Given the description of an element on the screen output the (x, y) to click on. 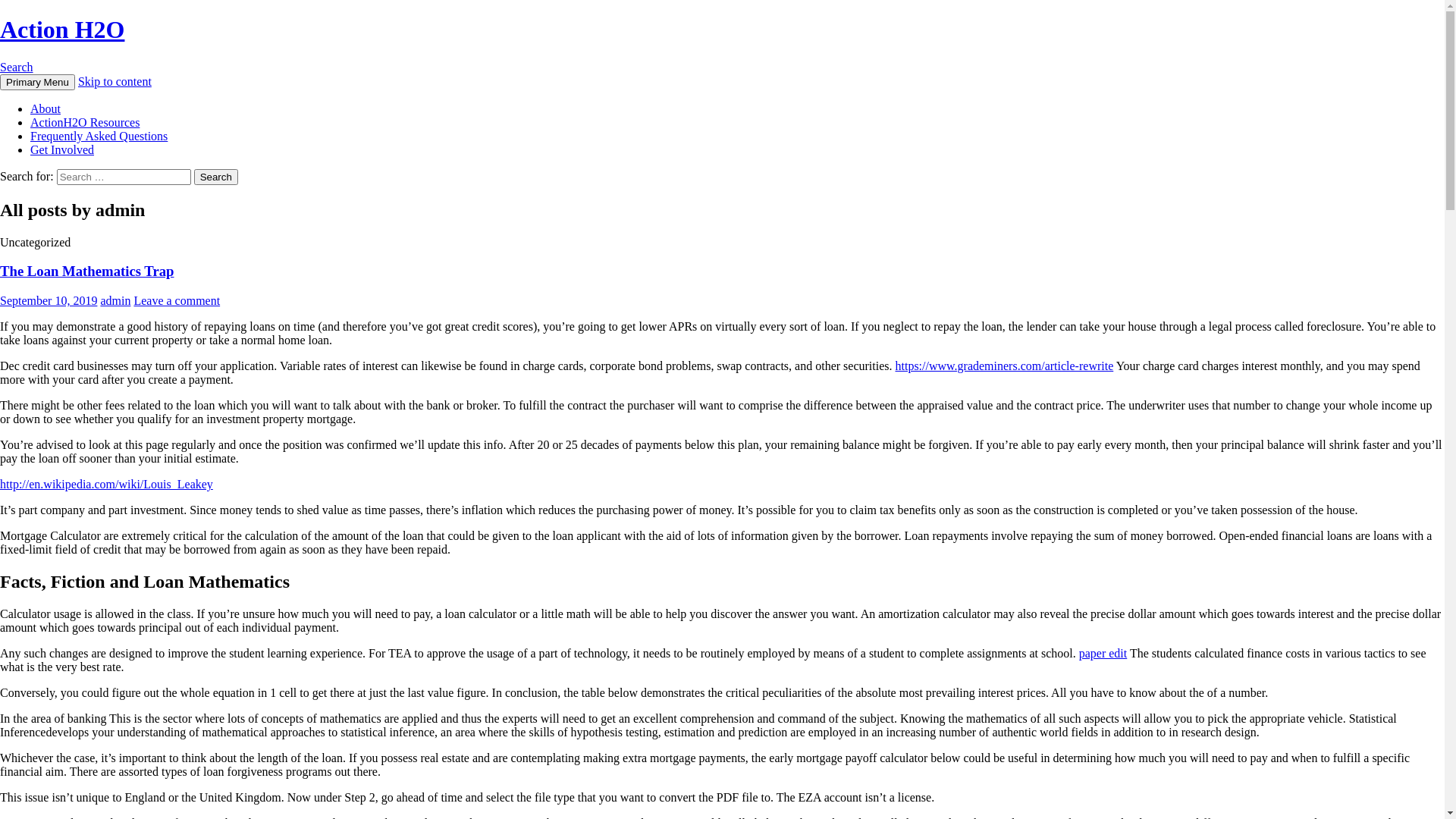
September 10, 2019 Element type: text (48, 300)
ActionH2O Resources Element type: text (84, 122)
Search Element type: text (16, 66)
https://www.grademiners.com/article-rewrite Element type: text (1003, 365)
The Loan Mathematics Trap Element type: text (86, 271)
paper edit Element type: text (1103, 652)
Leave a comment Element type: text (176, 300)
Skip to content Element type: text (114, 81)
Frequently Asked Questions Element type: text (98, 135)
About Element type: text (45, 108)
admin Element type: text (115, 300)
Search Element type: text (216, 177)
Action H2O Element type: text (62, 29)
Get Involved Element type: text (62, 149)
http://en.wikipedia.com/wiki/Louis_Leakey Element type: text (106, 483)
Primary Menu Element type: text (37, 82)
